Given the description of an element on the screen output the (x, y) to click on. 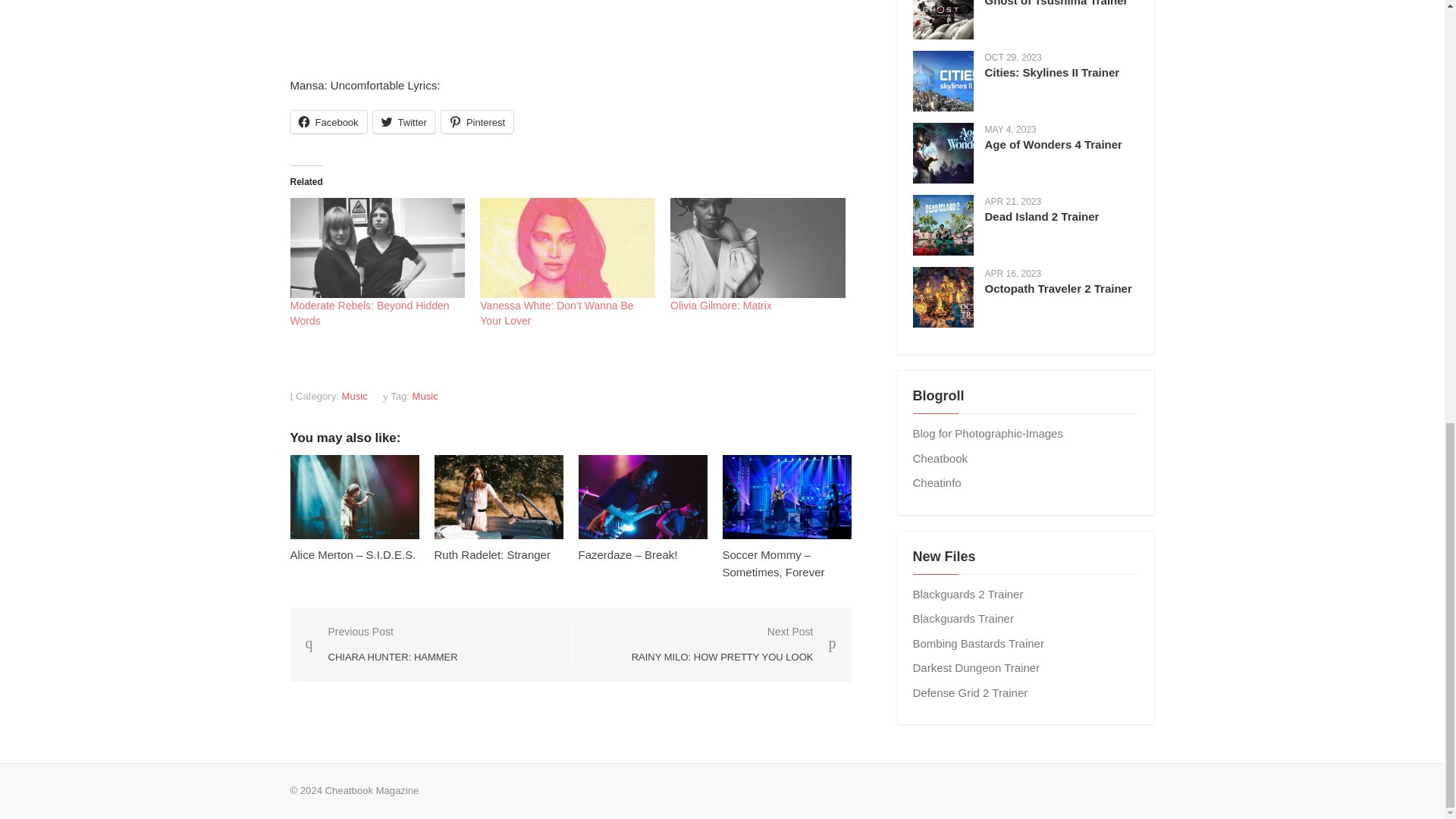
Moderate Rebels: Beyond Hidden Words (368, 312)
Moderate Rebels: Beyond Hidden Words (376, 248)
Ruth Radelet: Stranger (491, 554)
Music (355, 396)
Olivia Gilmore: Matrix (757, 248)
Click to share on Twitter (403, 121)
Click to share on Pinterest (477, 121)
Olivia Gilmore: Matrix (720, 305)
Pinterest (477, 121)
Twitter (403, 121)
Facebook (327, 121)
Click to share on Facebook (327, 121)
Olivia Gilmore: Matrix (720, 305)
GALLERY FOR PHOTOGRAPHIC-IMAGES (987, 432)
Moderate Rebels: Beyond Hidden Words (368, 312)
